Given the description of an element on the screen output the (x, y) to click on. 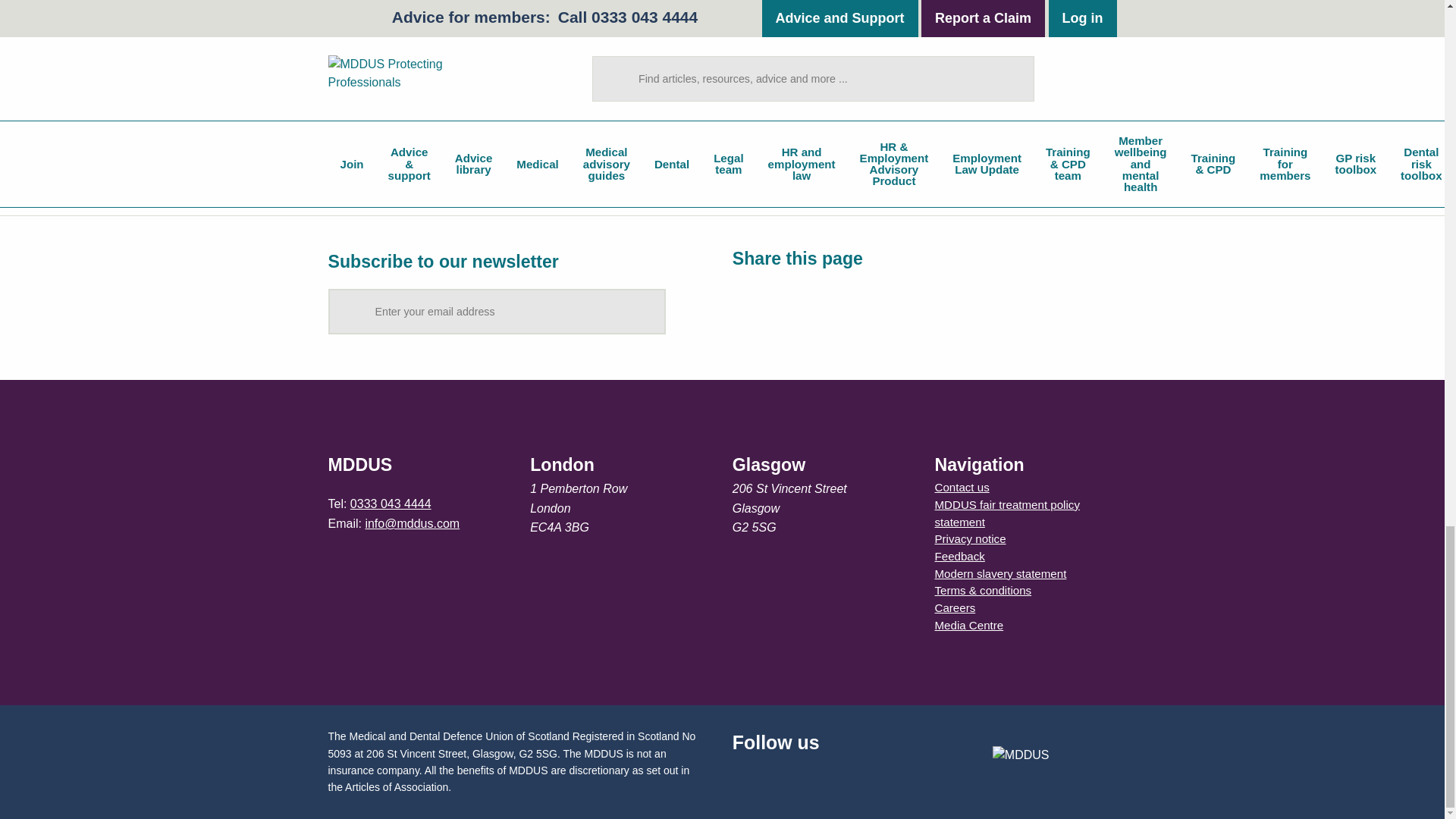
Submit (647, 310)
